Given the description of an element on the screen output the (x, y) to click on. 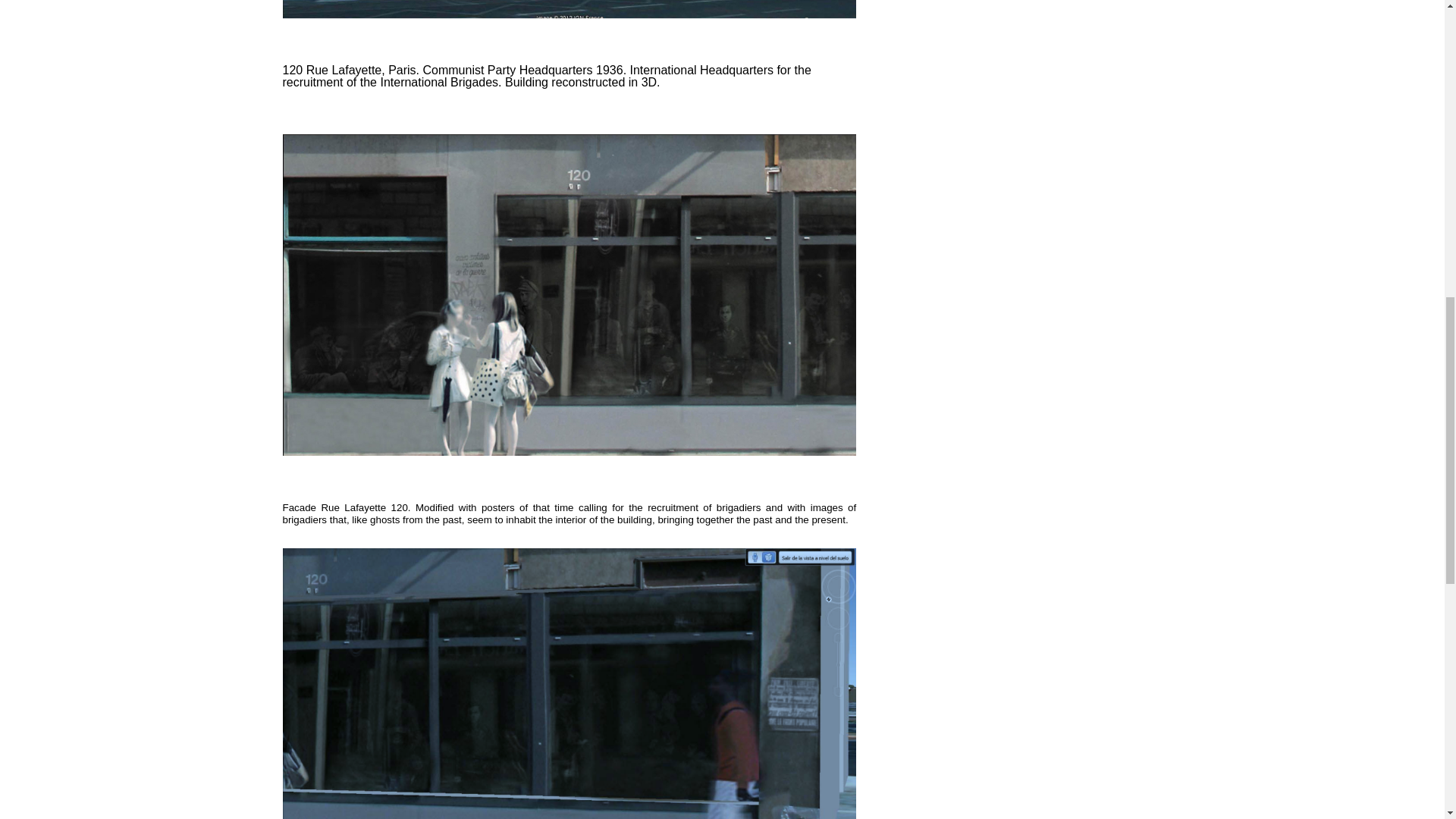
Page 7 (569, 513)
Page 6 (569, 76)
